Given the description of an element on the screen output the (x, y) to click on. 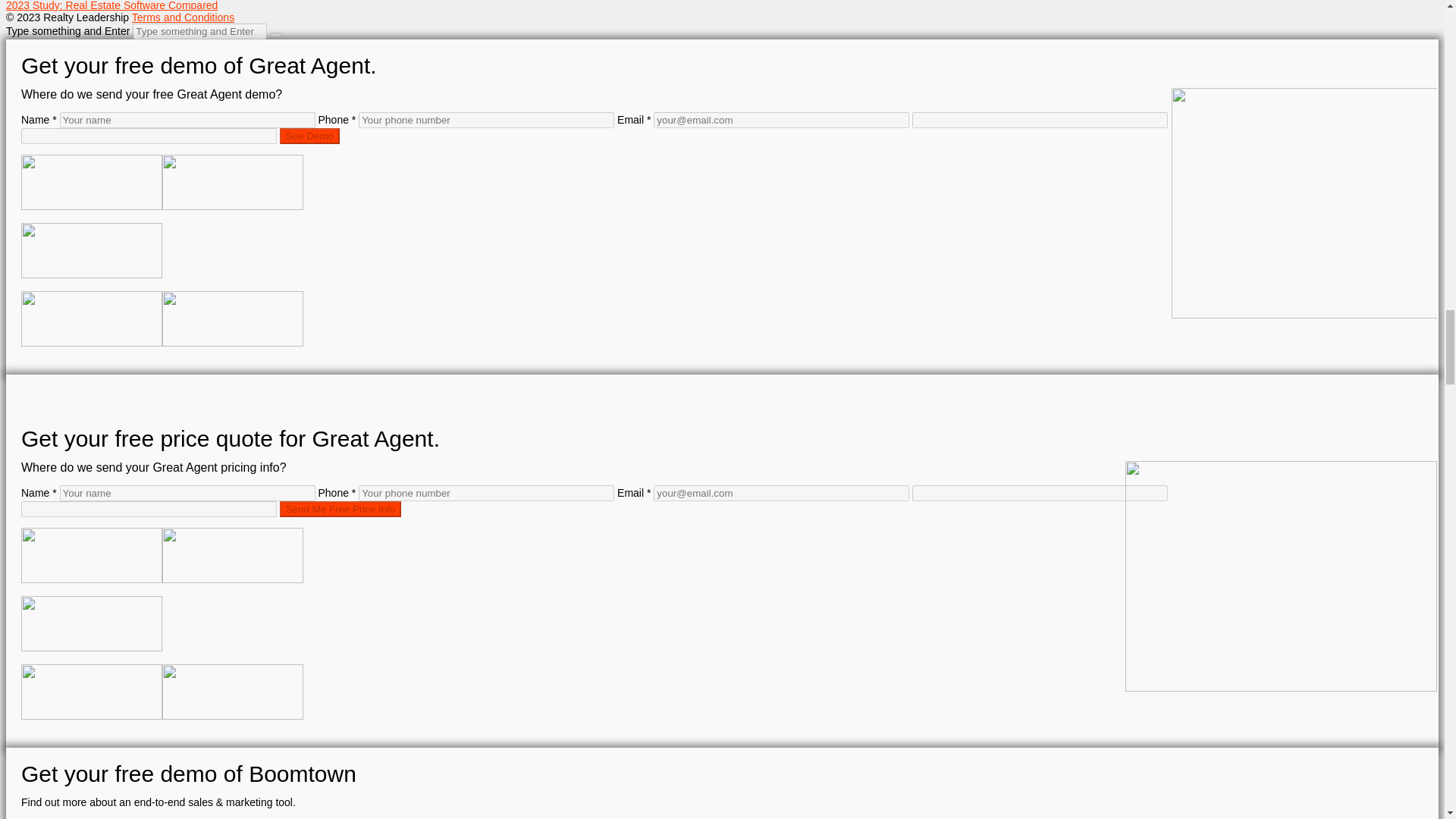
See Demo (309, 135)
Send Me Free Price Info (340, 508)
